Given the description of an element on the screen output the (x, y) to click on. 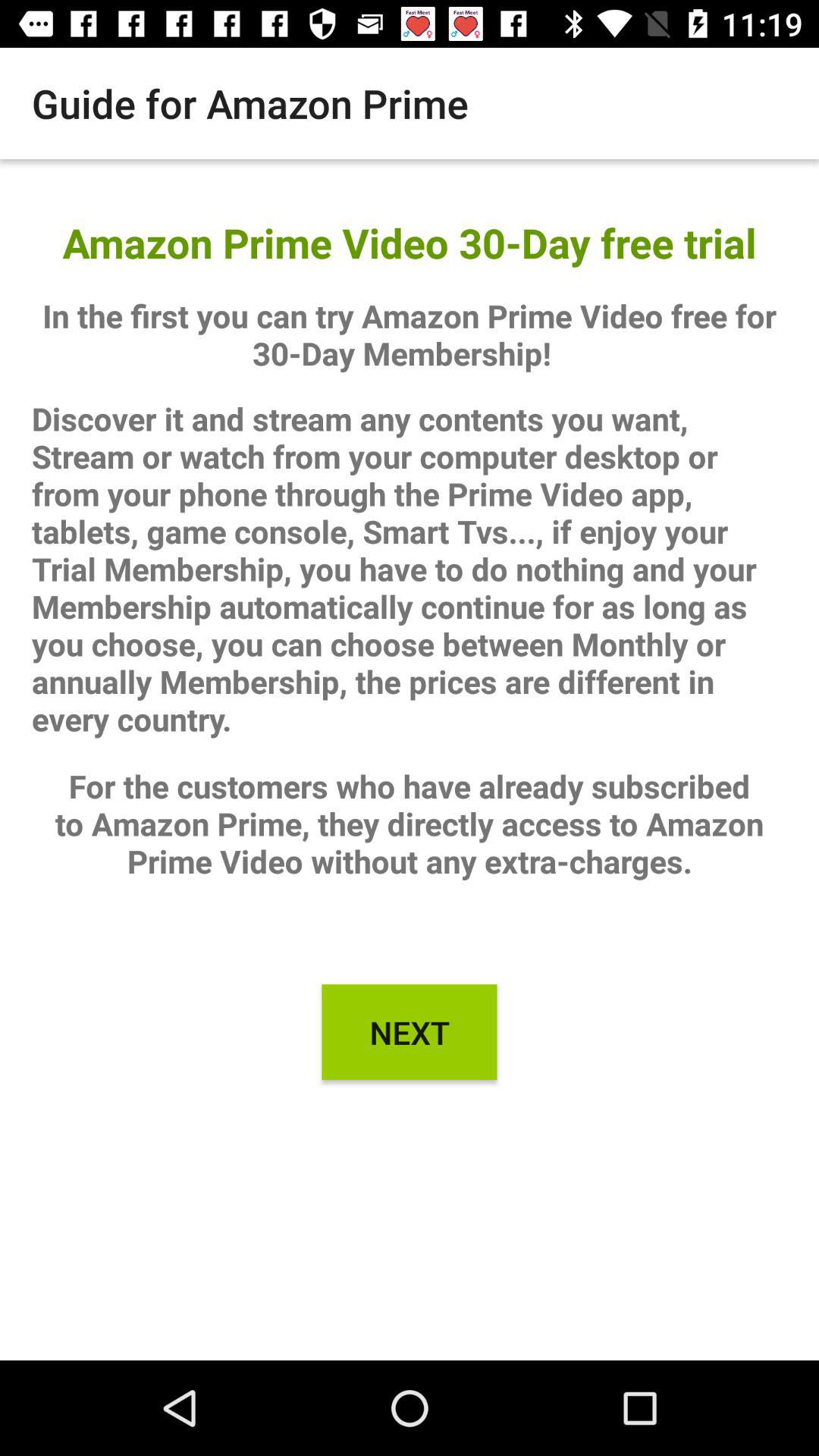
flip to next (409, 1032)
